Given the description of an element on the screen output the (x, y) to click on. 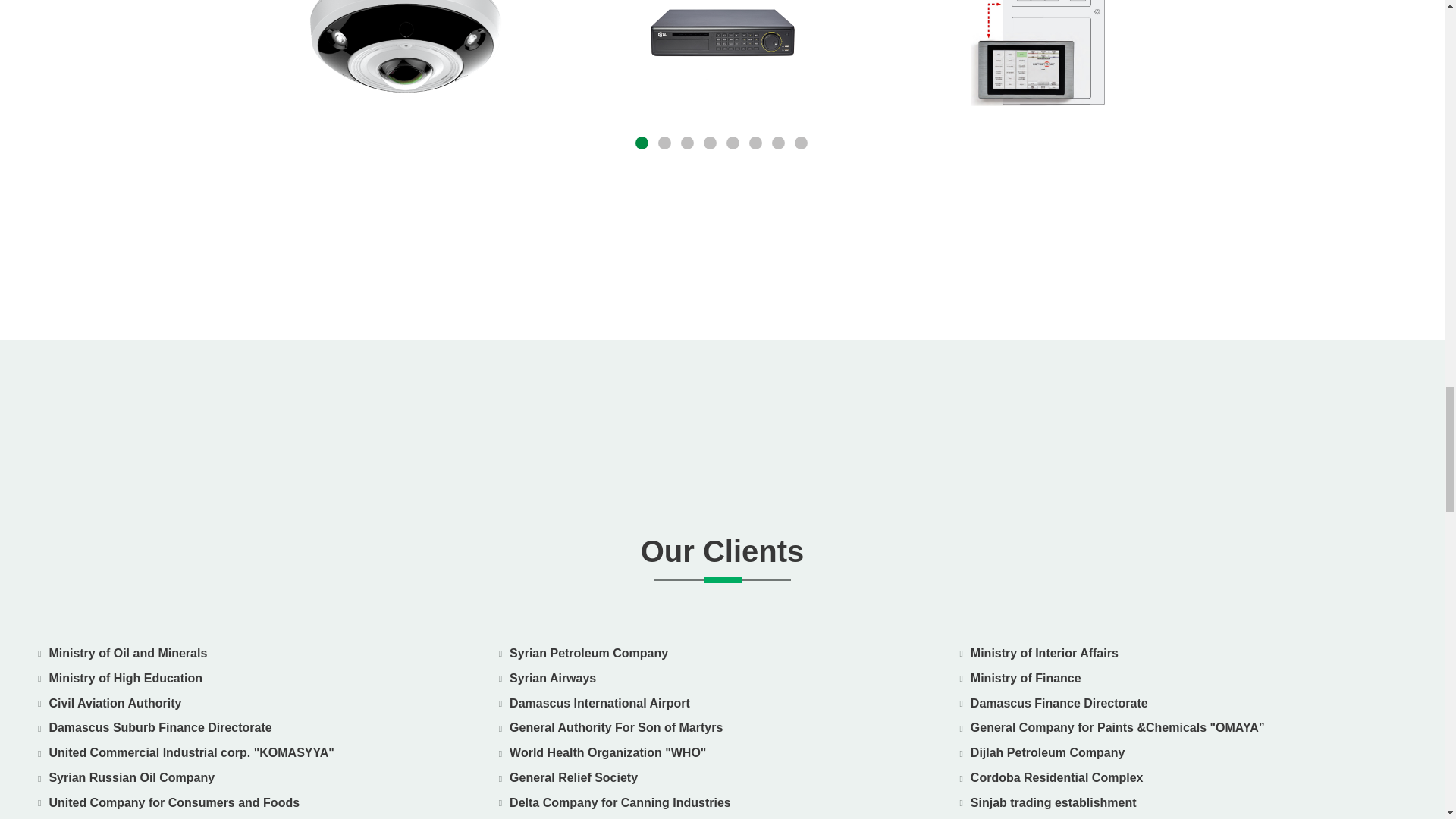
6 (756, 143)
2 (665, 143)
8 (801, 143)
4 (711, 143)
5 (733, 143)
3 (688, 143)
1 (642, 143)
7 (779, 143)
